Given the description of an element on the screen output the (x, y) to click on. 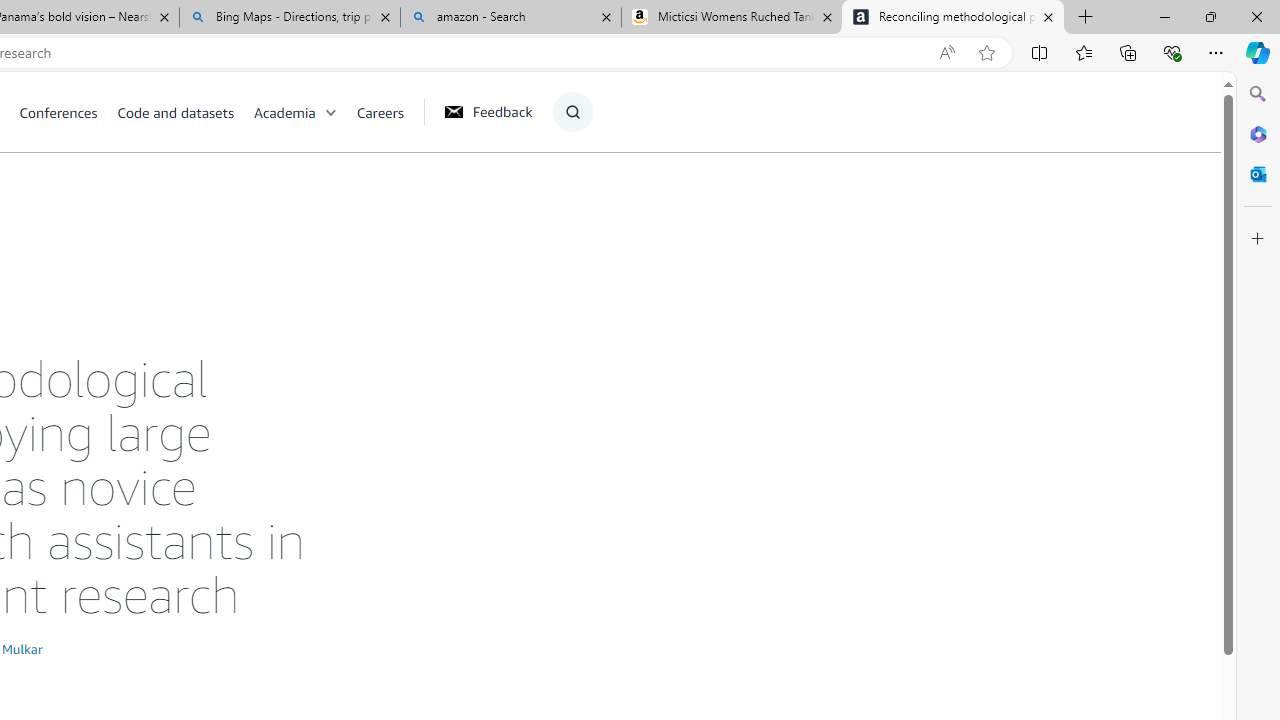
Open Sub Navigation (330, 111)
